Given the description of an element on the screen output the (x, y) to click on. 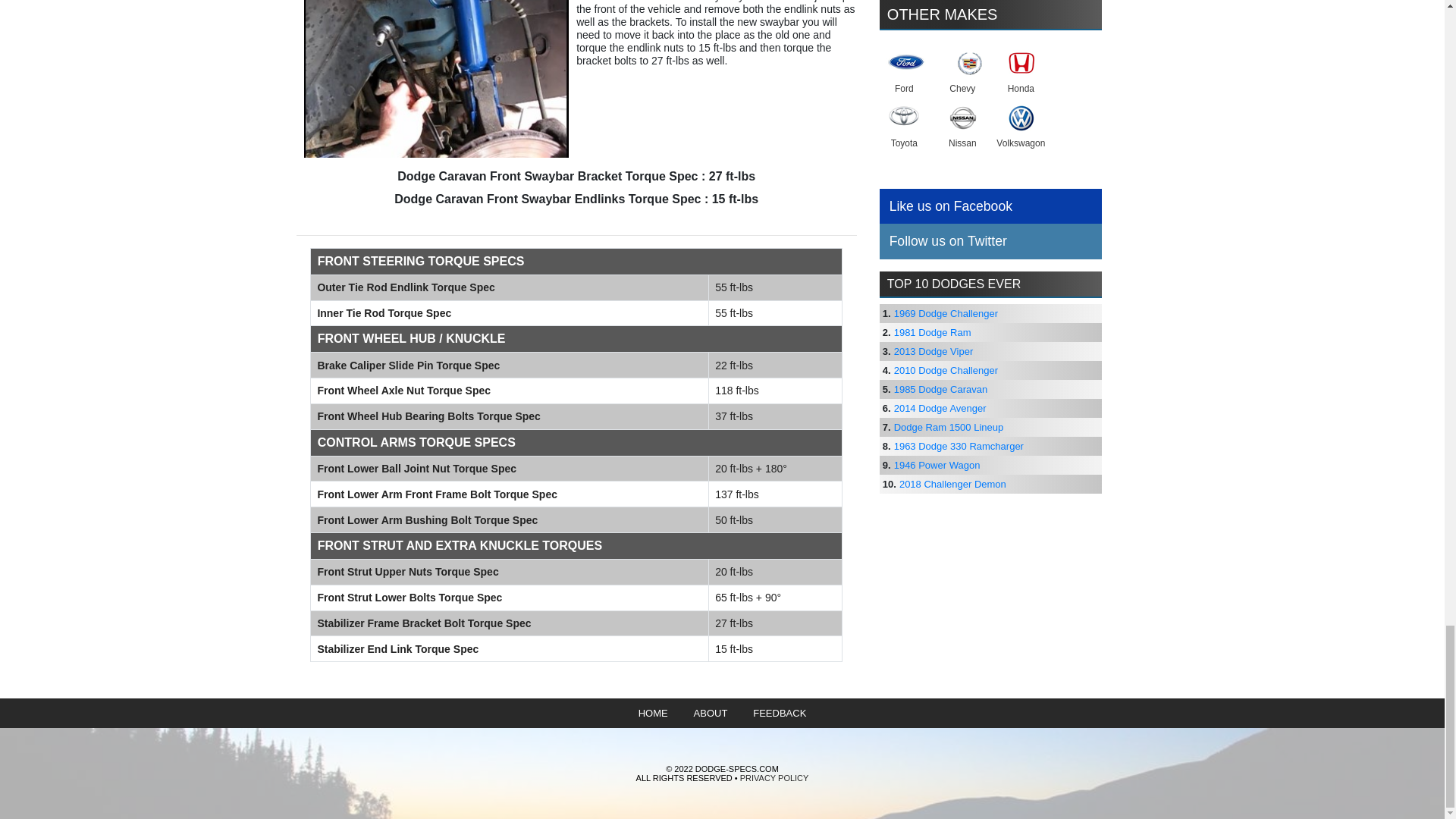
HOME (653, 713)
ABOUT (710, 713)
PRIVACY POLICY (774, 777)
FEEDBACK (778, 713)
